Given the description of an element on the screen output the (x, y) to click on. 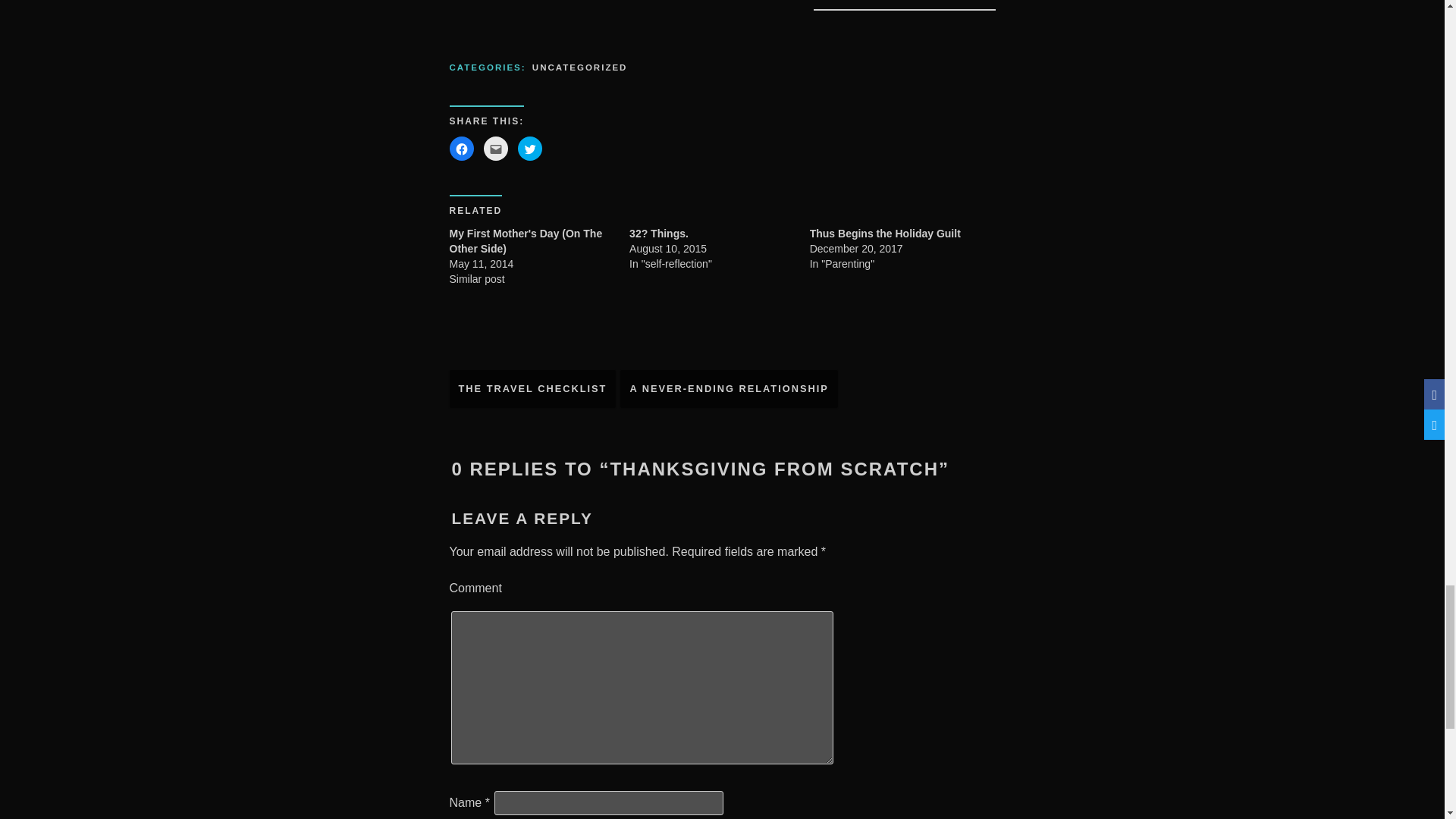
A NEVER-ENDING RELATIONSHIP (728, 389)
Thus Begins the Holiday Guilt (884, 233)
THE TRAVEL CHECKLIST (532, 389)
UNCATEGORIZED (579, 68)
Thus Begins the Holiday Guilt (884, 233)
32? Things. (658, 233)
Click to share on Facebook (460, 148)
Click to email this to a friend (495, 148)
Click to share on Twitter (528, 148)
32? Things. (658, 233)
